Given the description of an element on the screen output the (x, y) to click on. 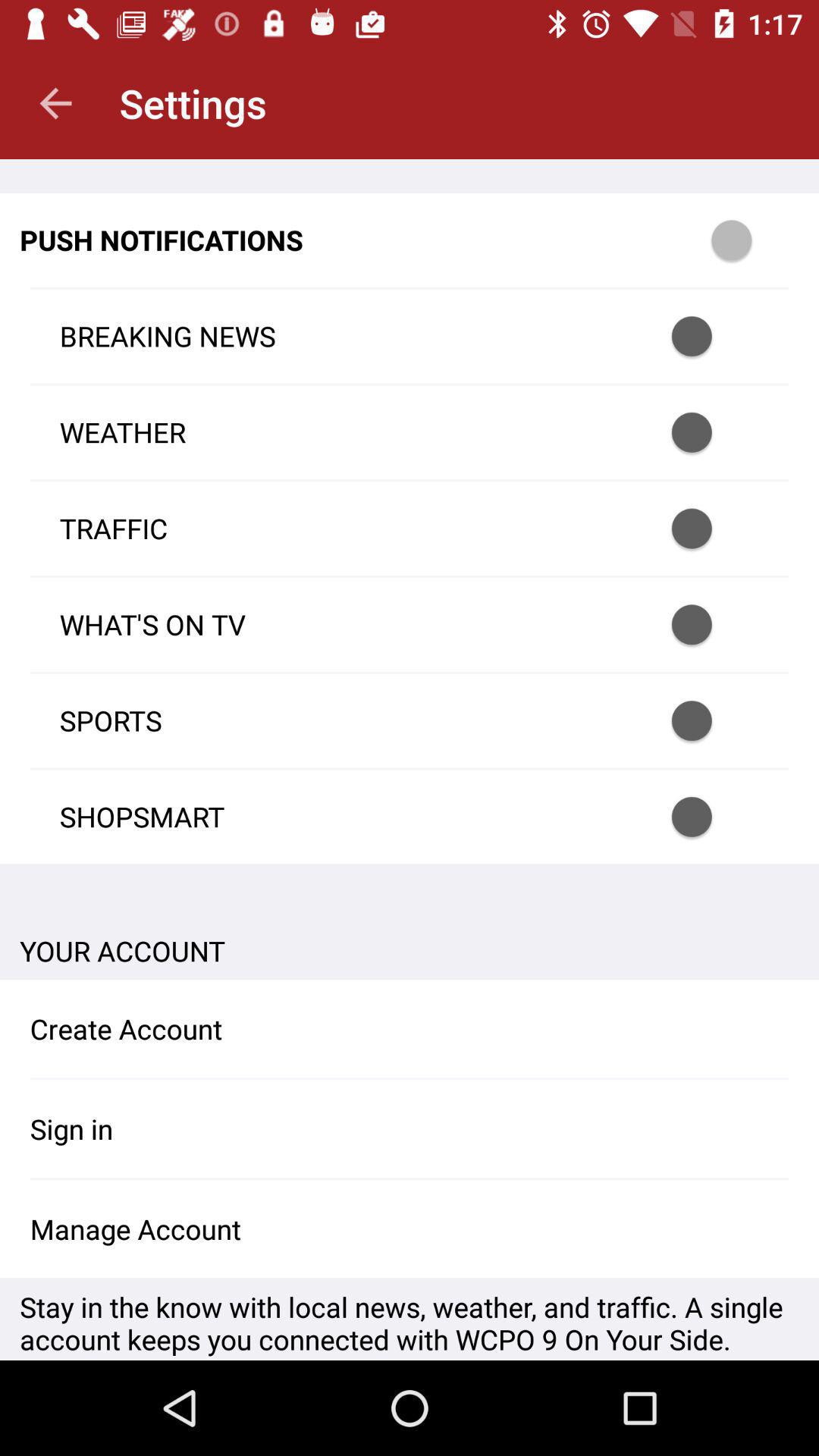
sports switch option (711, 720)
